Given the description of an element on the screen output the (x, y) to click on. 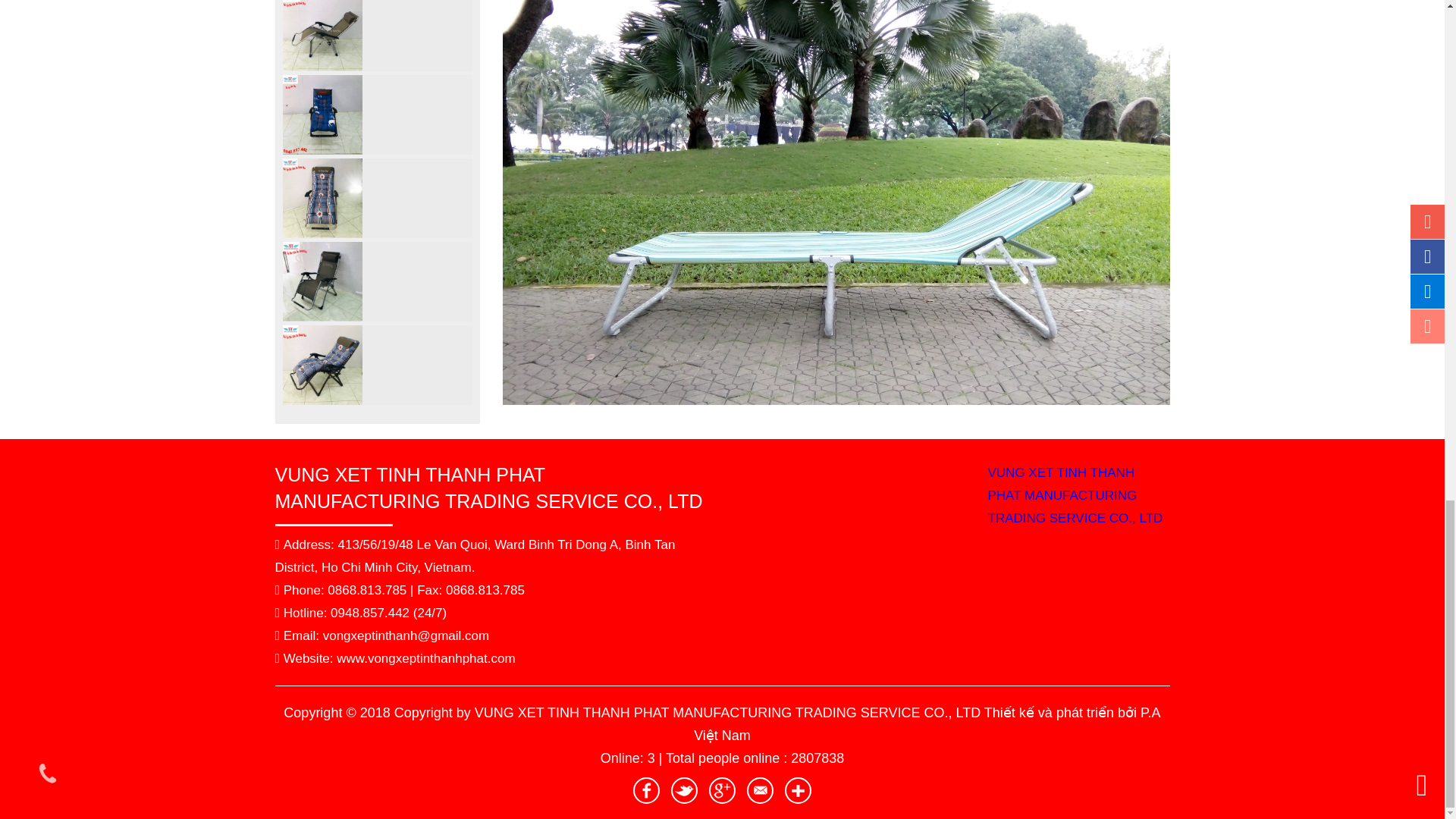
email (759, 790)
facebook (646, 790)
addthis (797, 790)
twitter (684, 790)
